Given the description of an element on the screen output the (x, y) to click on. 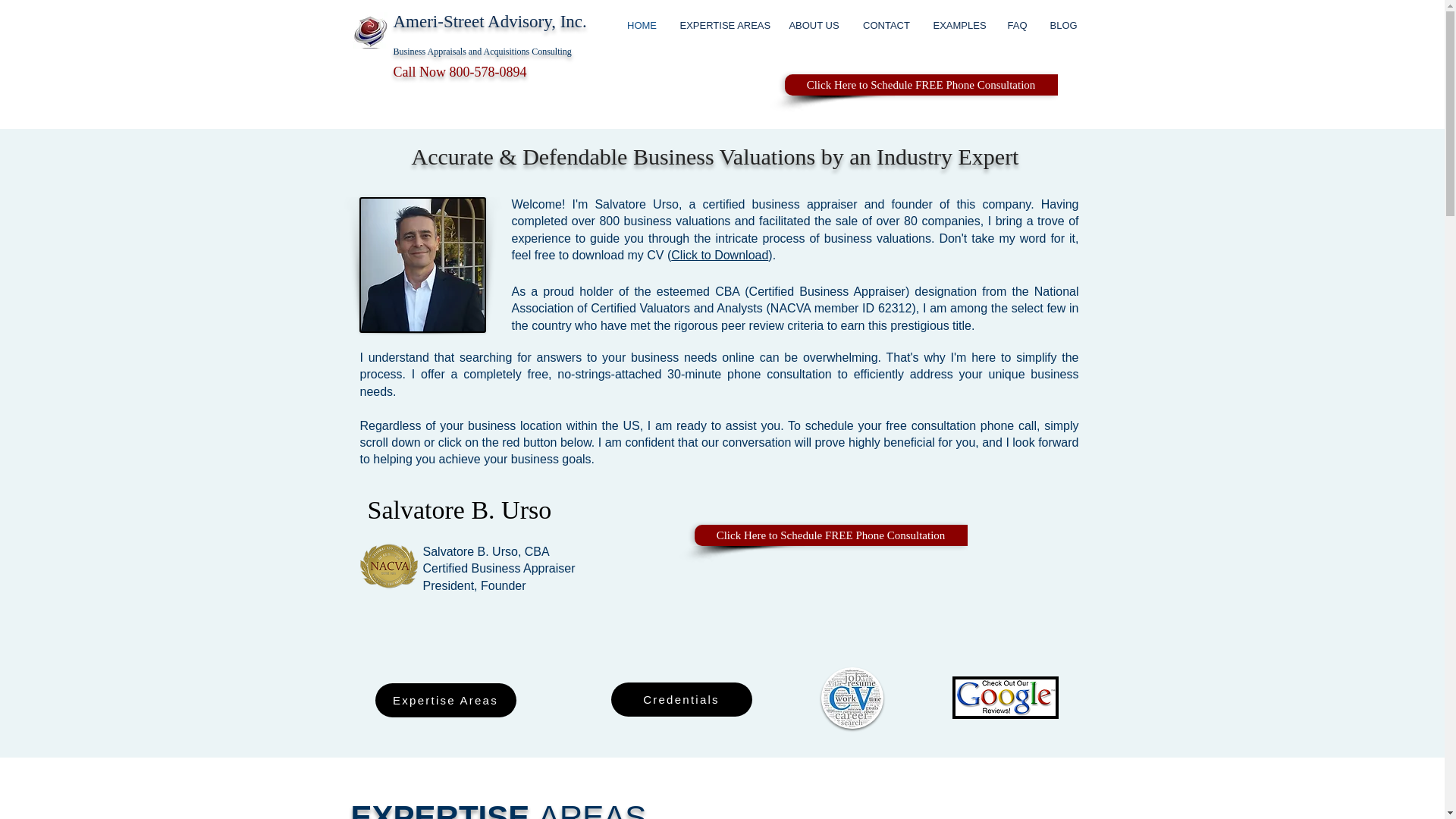
EXAMPLES (958, 25)
Click to Download (719, 254)
Ameri-Street Advisory, Inc.  (492, 21)
Credentials (681, 699)
Expertise Areas (444, 700)
Click Here to Schedule FREE Phone Consultation (831, 535)
FAQ (1017, 25)
BLOG (1064, 25)
EXPERTISE AREAS (722, 25)
ABOUT US (813, 25)
